Given the description of an element on the screen output the (x, y) to click on. 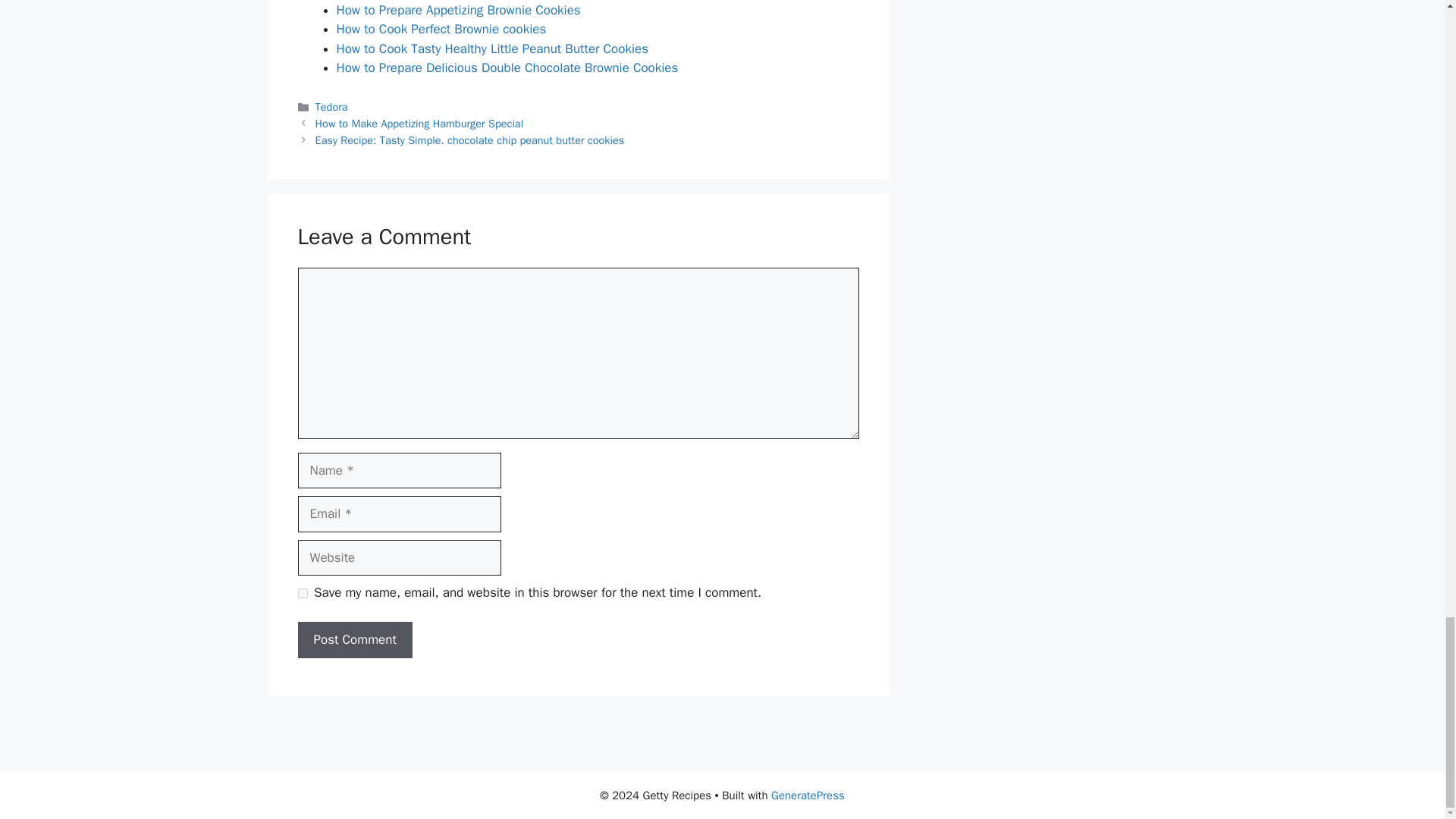
How to Prepare Delicious Double Chocolate Brownie Cookies (507, 67)
How to Cook Perfect Brownie cookies (441, 28)
How to Cook Tasty Healthy Little Peanut Butter Cookies (492, 48)
yes (302, 593)
How to Prepare Appetizing Brownie Cookies (458, 10)
Tedora (331, 106)
Post Comment (354, 639)
How to Make Appetizing Hamburger Special (419, 123)
Post Comment (354, 639)
